Given the description of an element on the screen output the (x, y) to click on. 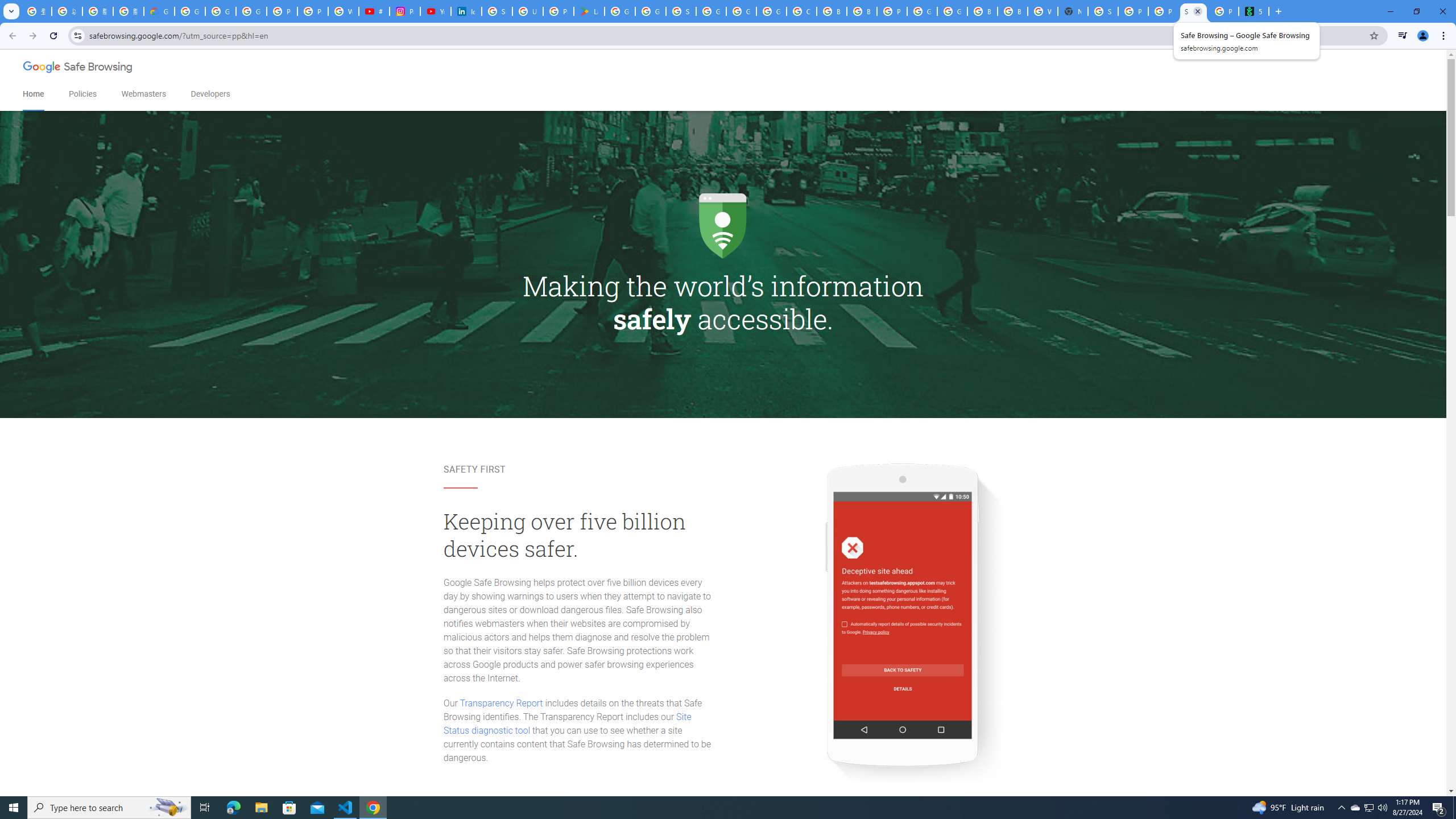
Site Status diagnostic tool (566, 723)
Last Shelter: Survival - Apps on Google Play (589, 11)
New Tab (1072, 11)
Google Workspace - Specific Terms (650, 11)
Sign in - Google Accounts (681, 11)
